Given the description of an element on the screen output the (x, y) to click on. 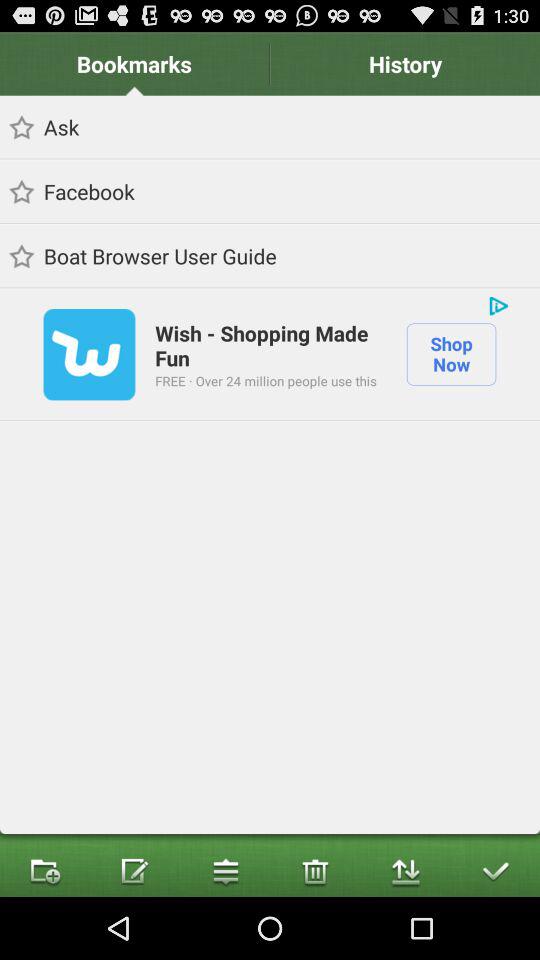
scroll to the history (405, 63)
